Given the description of an element on the screen output the (x, y) to click on. 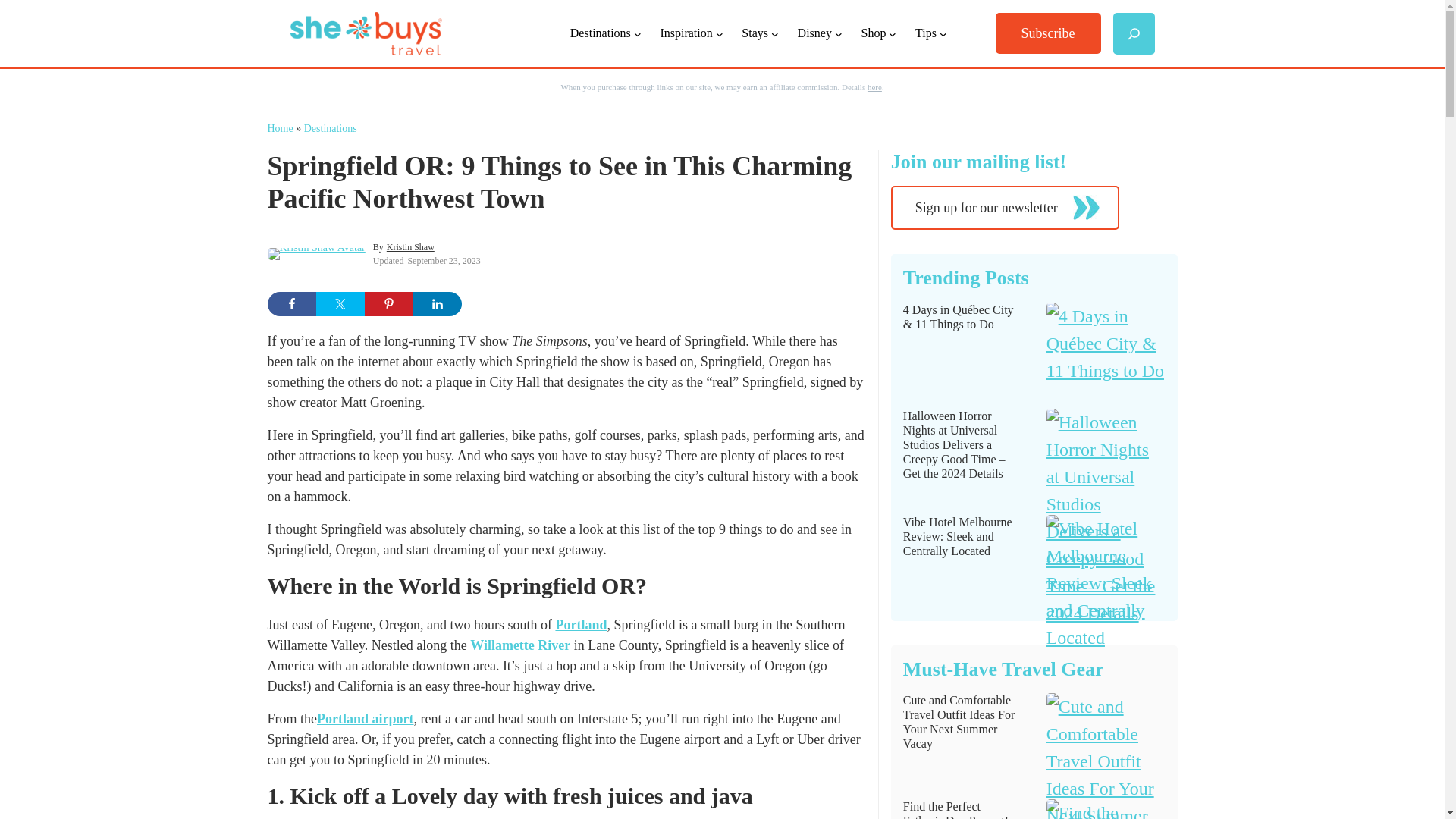
Share on LinkedIn (436, 303)
Share on Pinterest (388, 303)
Destinations (600, 32)
Stays (754, 32)
Inspiration (685, 32)
Share on Twitter (339, 303)
Disney (814, 32)
Share on Facebook (290, 303)
